Given the description of an element on the screen output the (x, y) to click on. 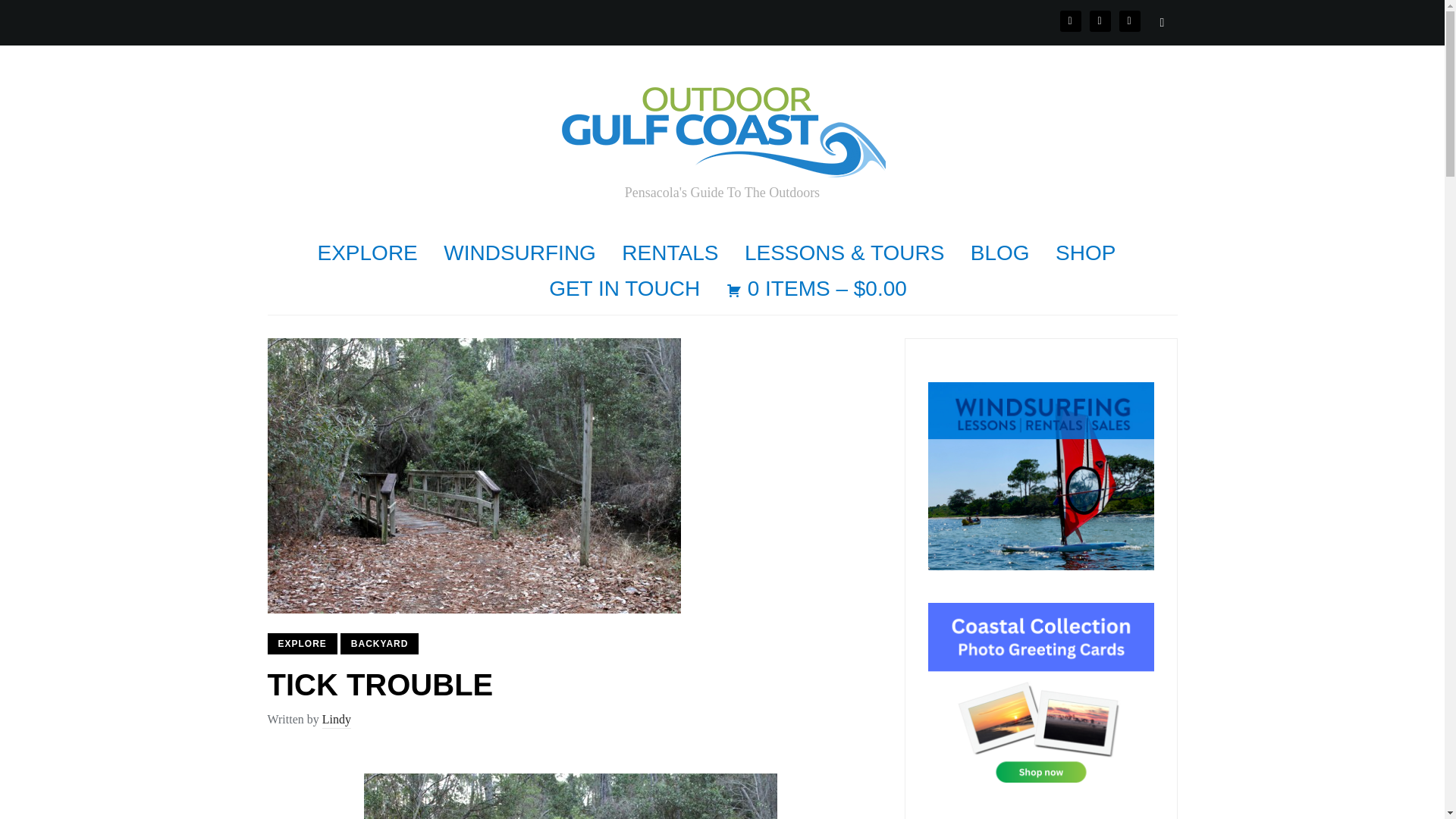
Facebook (1070, 20)
View your shopping cart (816, 289)
YOUTUBE (1129, 20)
Instagram (1099, 20)
Default Label (1129, 20)
FACEBOOK (1070, 20)
Posts by Lindy (335, 720)
INSTAGRAM (1099, 20)
Jones Wetlands and Nature Trail (570, 796)
Search (1161, 22)
